Given the description of an element on the screen output the (x, y) to click on. 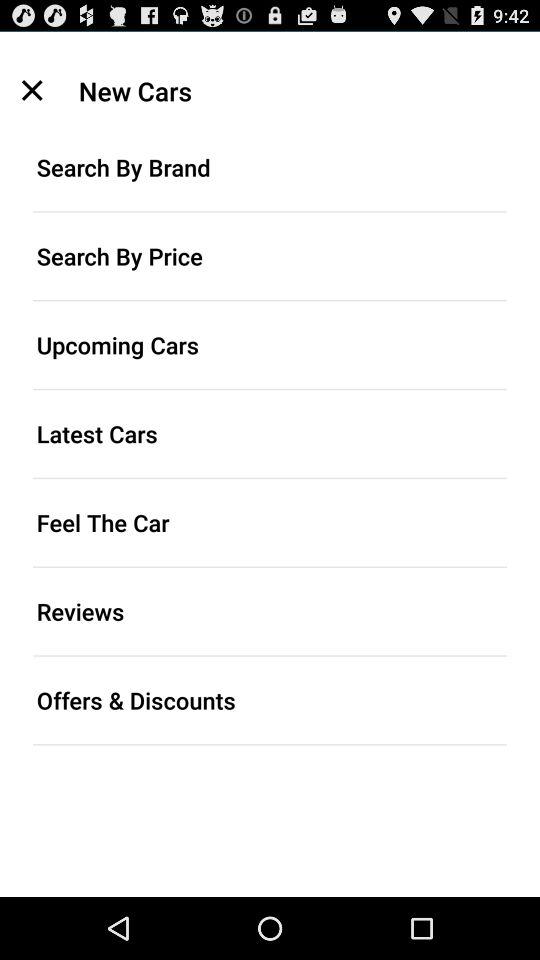
swipe until reviews item (270, 611)
